Given the description of an element on the screen output the (x, y) to click on. 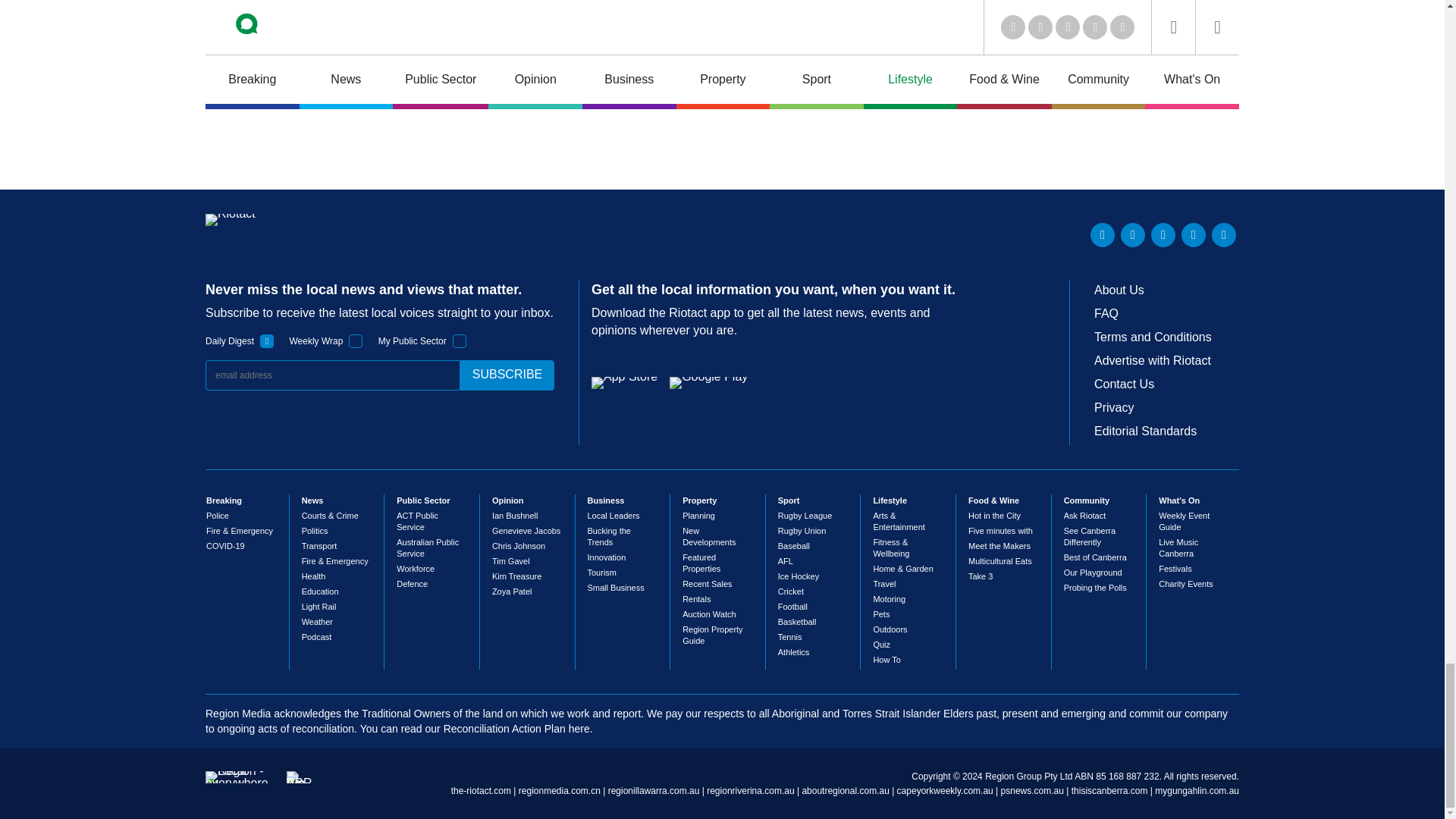
Instagram (1223, 234)
Youtube (1162, 234)
1 (266, 341)
Twitter (1132, 234)
1 (355, 341)
LinkedIn (1102, 234)
App Store (624, 382)
subscribe (507, 375)
Facebook (1192, 234)
1 (458, 341)
